Given the description of an element on the screen output the (x, y) to click on. 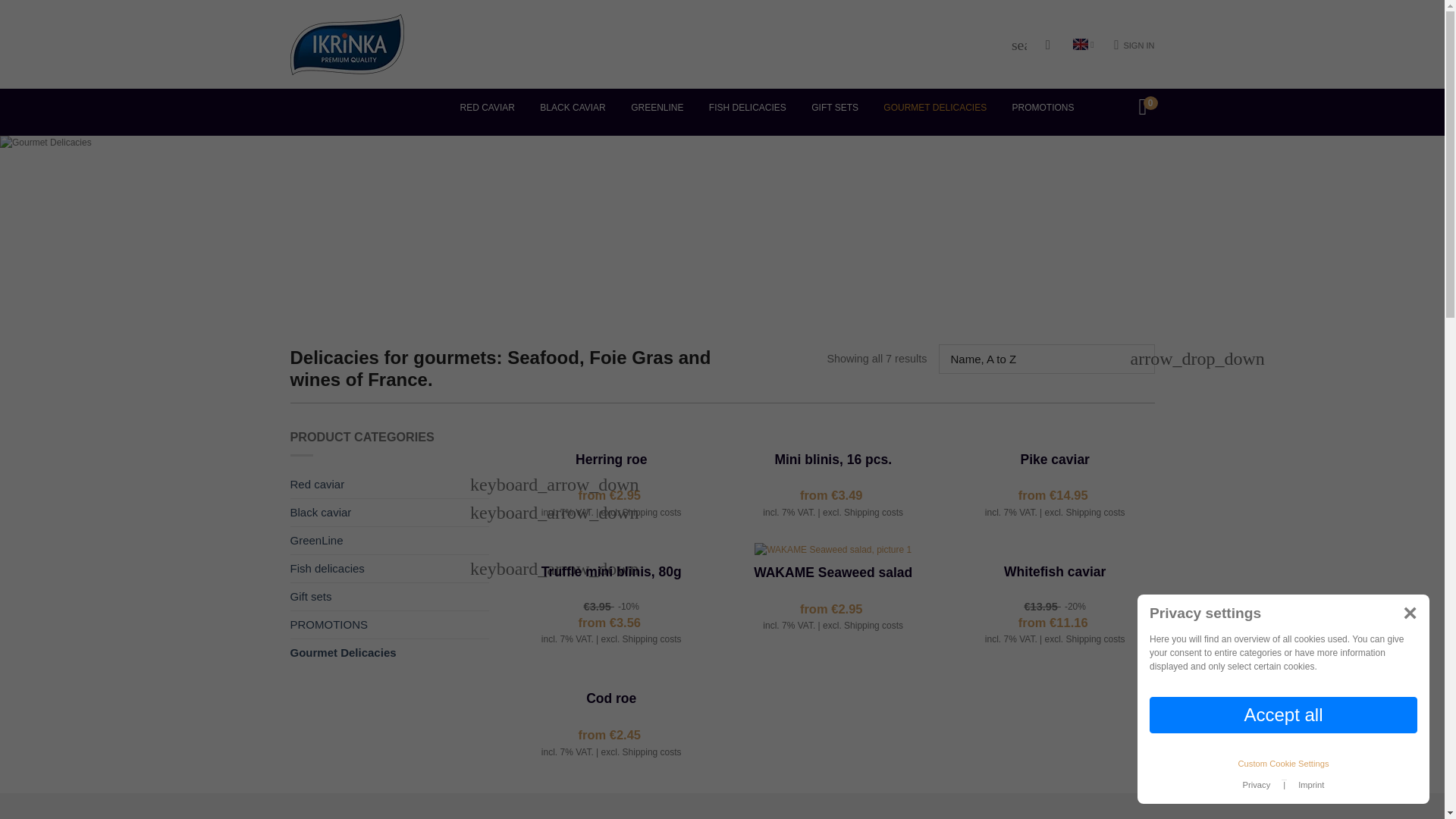
BLACK CAVIAR (572, 107)
FISH DELICACIES (747, 107)
GreenLine (376, 540)
GREENLINE (656, 107)
PROMOTIONS (1042, 107)
IKRiNKA (346, 43)
Name, A to Z (1046, 358)
GOURMET DELICACIES (935, 107)
GIFT SETS (834, 107)
Log in to your customer account (1133, 45)
Black caviar (376, 512)
Fish delicacies (376, 568)
Gift sets (376, 596)
Sign up (543, 520)
Gourmet Delicacies (376, 652)
